Given the description of an element on the screen output the (x, y) to click on. 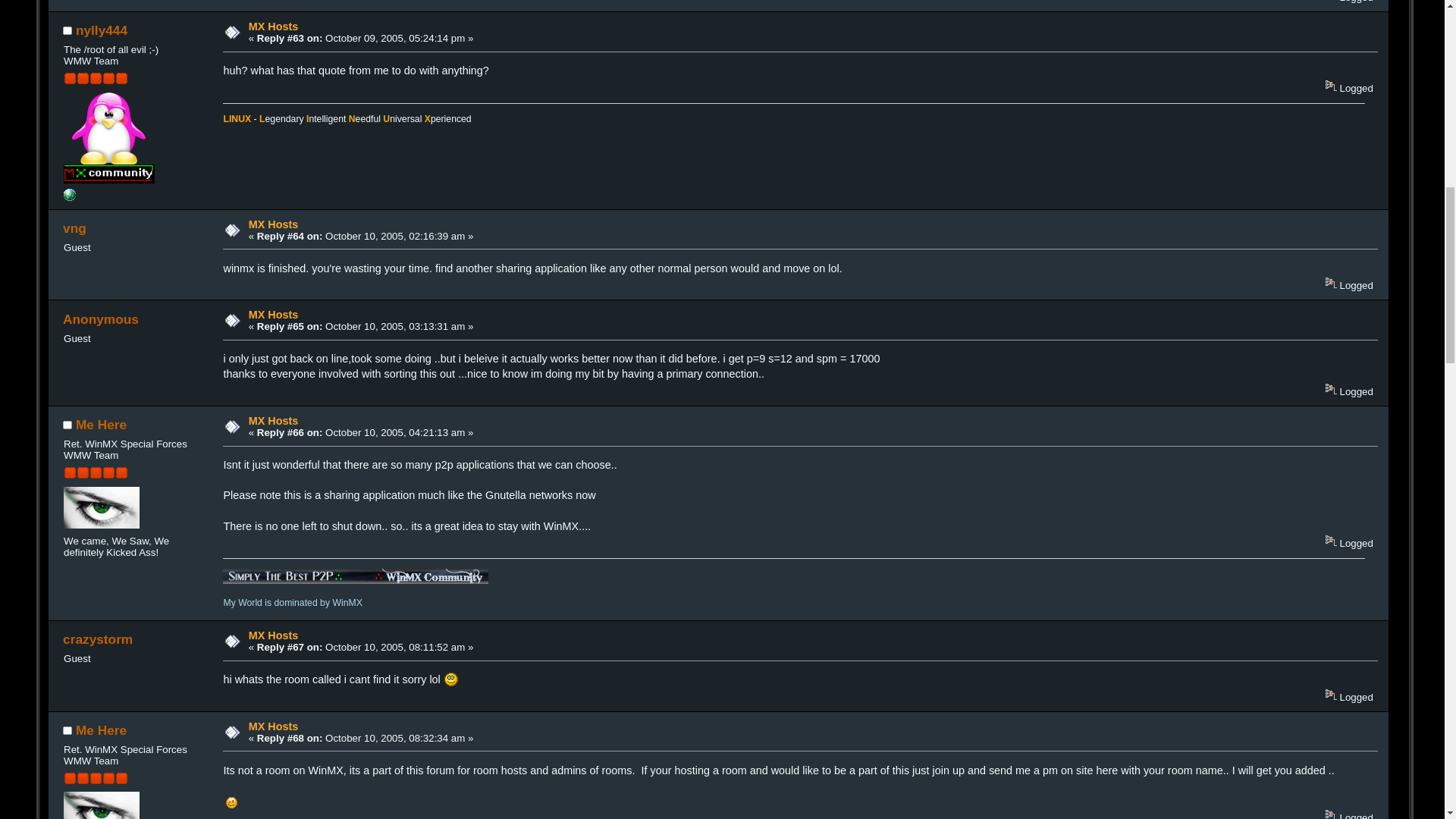
View the profile of Me Here (100, 729)
Smile (451, 679)
View the profile of Me Here (100, 424)
wink (231, 802)
WinMX World (69, 197)
View the profile of nylly444 (101, 29)
